Given the description of an element on the screen output the (x, y) to click on. 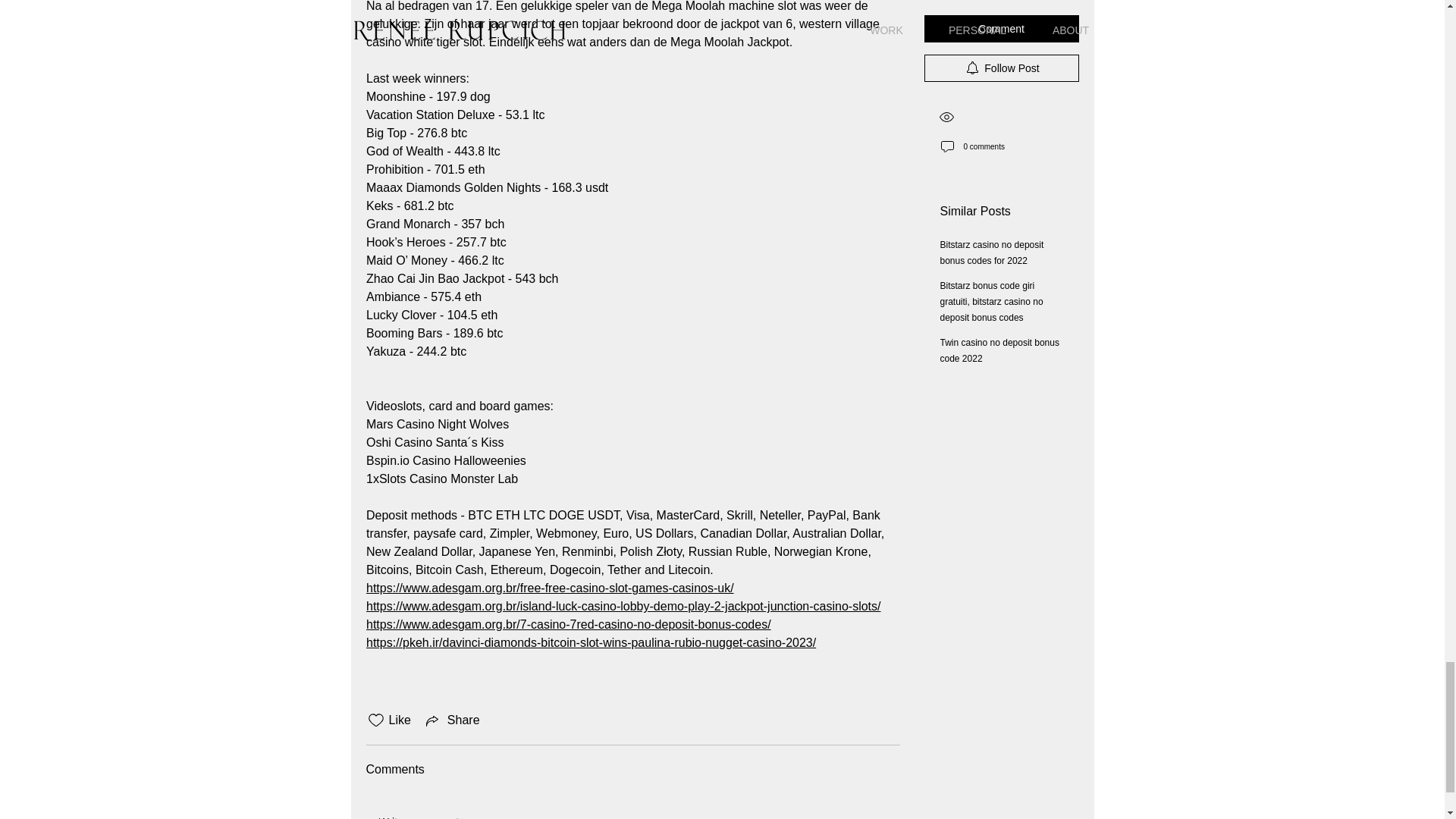
Write a comment... (632, 809)
Share (451, 720)
